Given the description of an element on the screen output the (x, y) to click on. 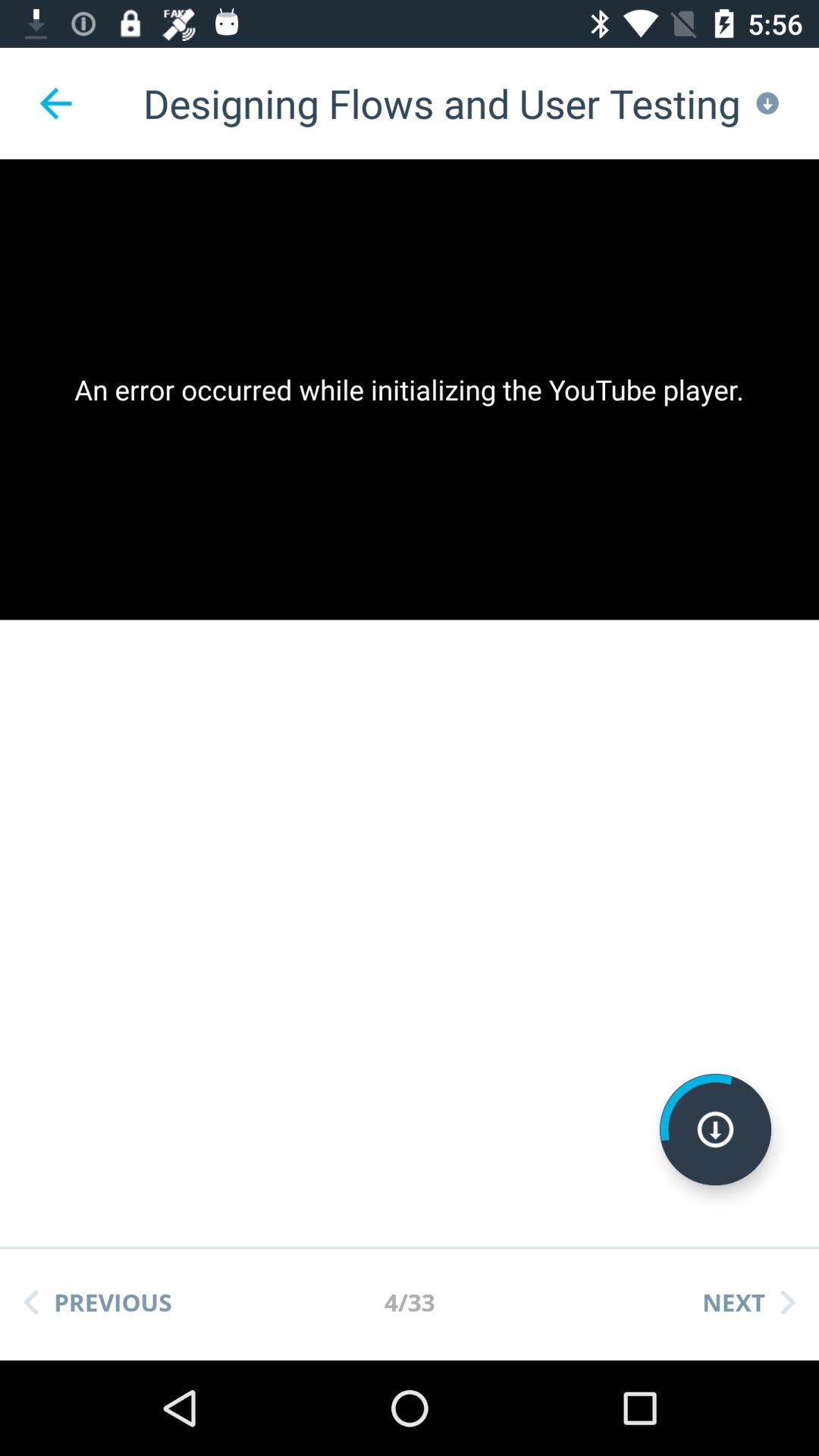
click next icon (748, 1302)
